Given the description of an element on the screen output the (x, y) to click on. 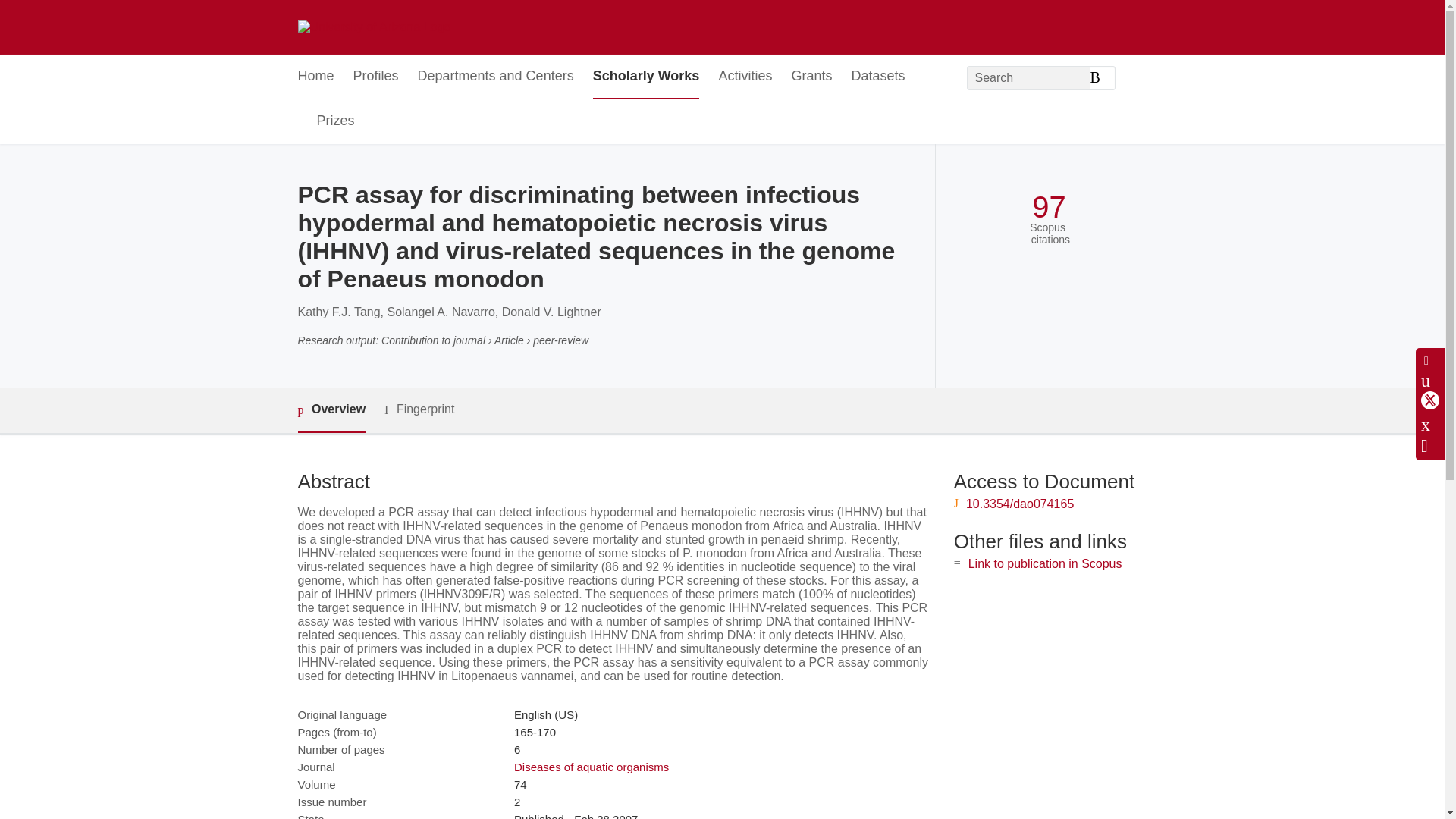
Scholarly Works (646, 76)
Grants (810, 76)
Diseases of aquatic organisms (590, 766)
Profiles (375, 76)
97 (1048, 207)
Fingerprint (419, 409)
University of Arizona Home (373, 27)
Overview (331, 410)
Link to publication in Scopus (1045, 563)
